Given the description of an element on the screen output the (x, y) to click on. 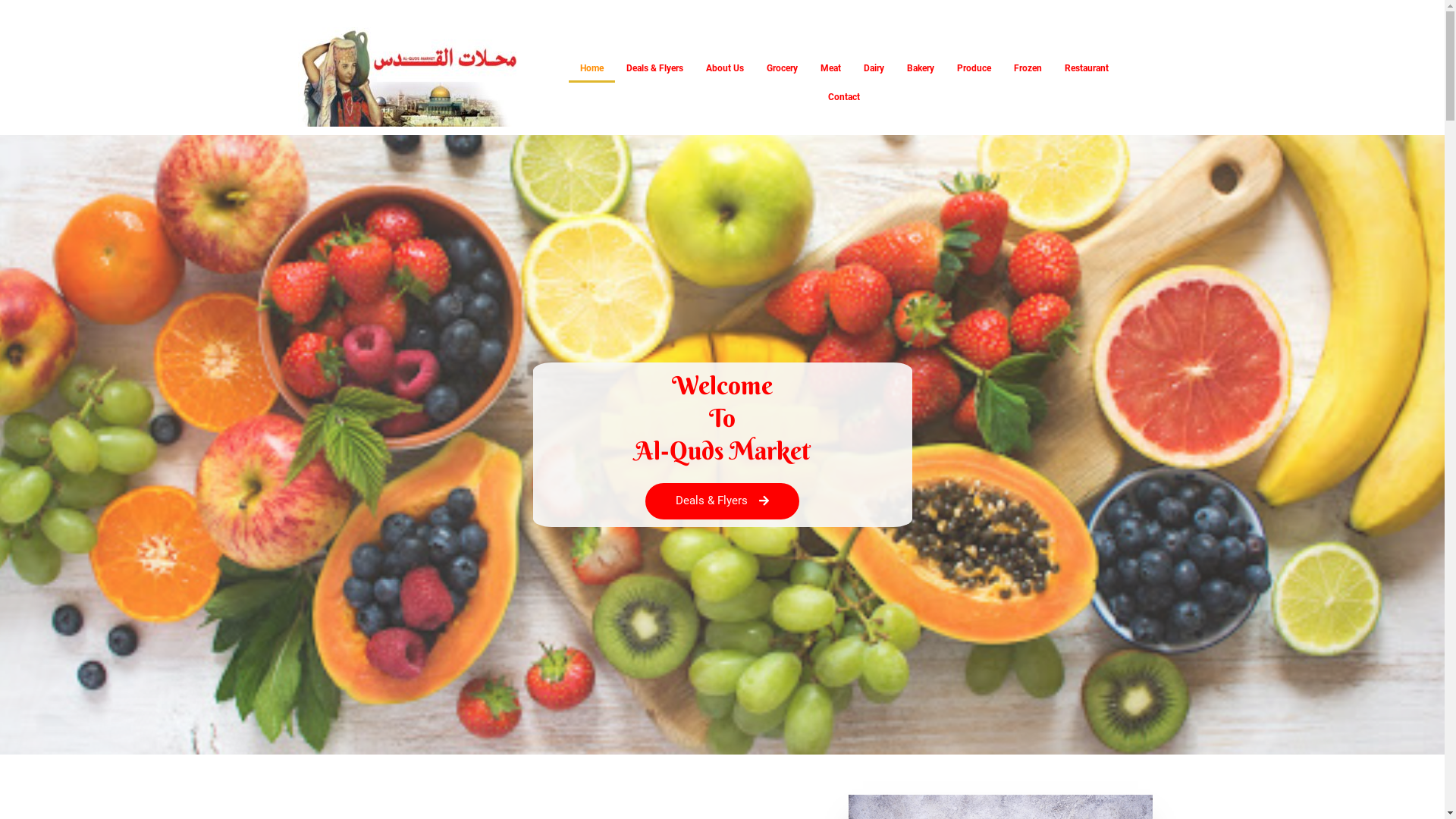
Contact Element type: text (843, 96)
Produce Element type: text (973, 67)
Deals & Flyers Element type: text (654, 67)
Meat Element type: text (830, 67)
Restaurant Element type: text (1086, 67)
Bakery Element type: text (920, 67)
Grocery Element type: text (782, 67)
About Us Element type: text (724, 67)
Deals & Flyers Element type: text (722, 501)
Dairy Element type: text (873, 67)
Frozen Element type: text (1027, 67)
Home Element type: text (591, 67)
